Given the description of an element on the screen output the (x, y) to click on. 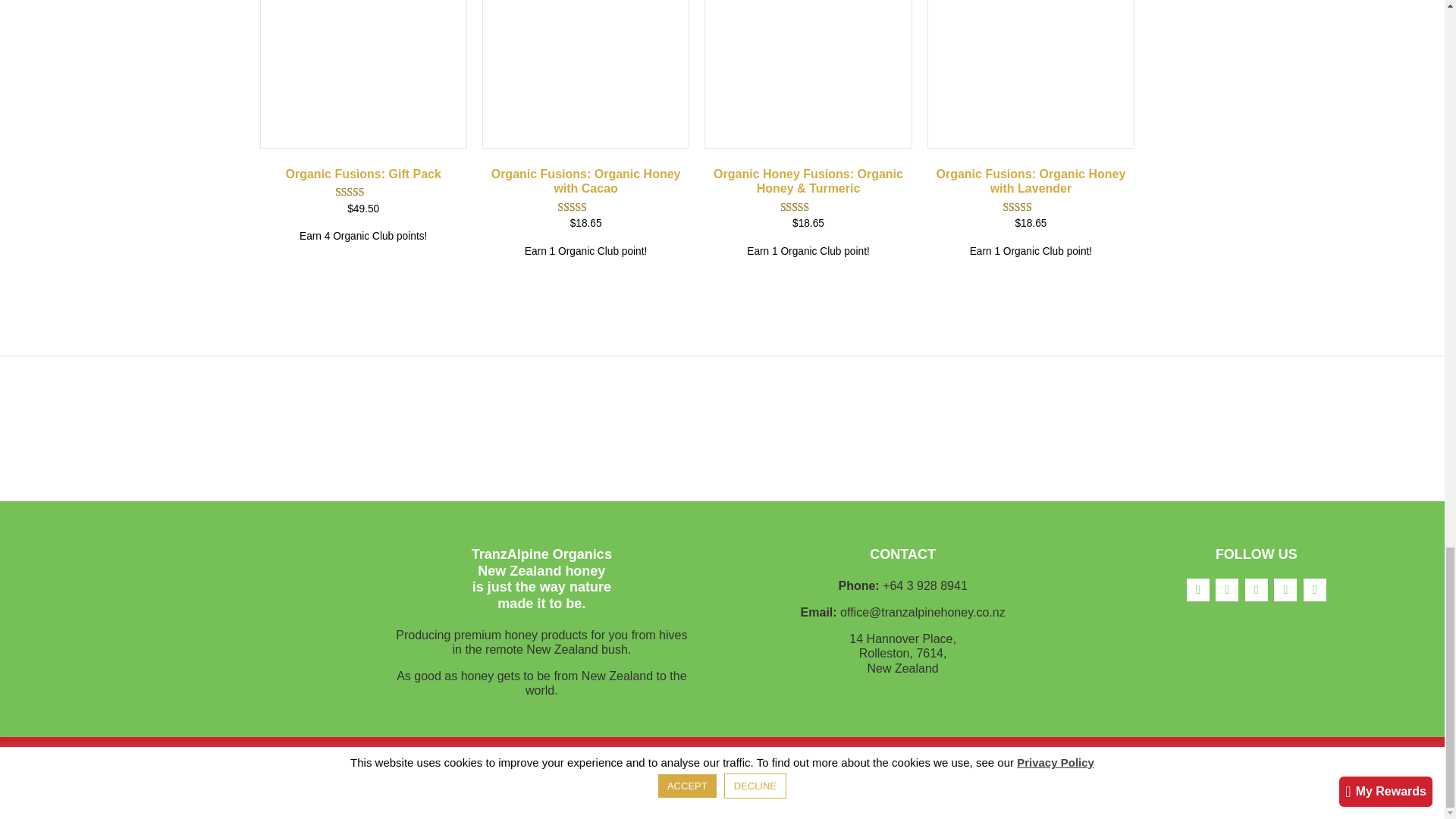
TranzAlpine Honey NZ footer logo (180, 579)
